Given the description of an element on the screen output the (x, y) to click on. 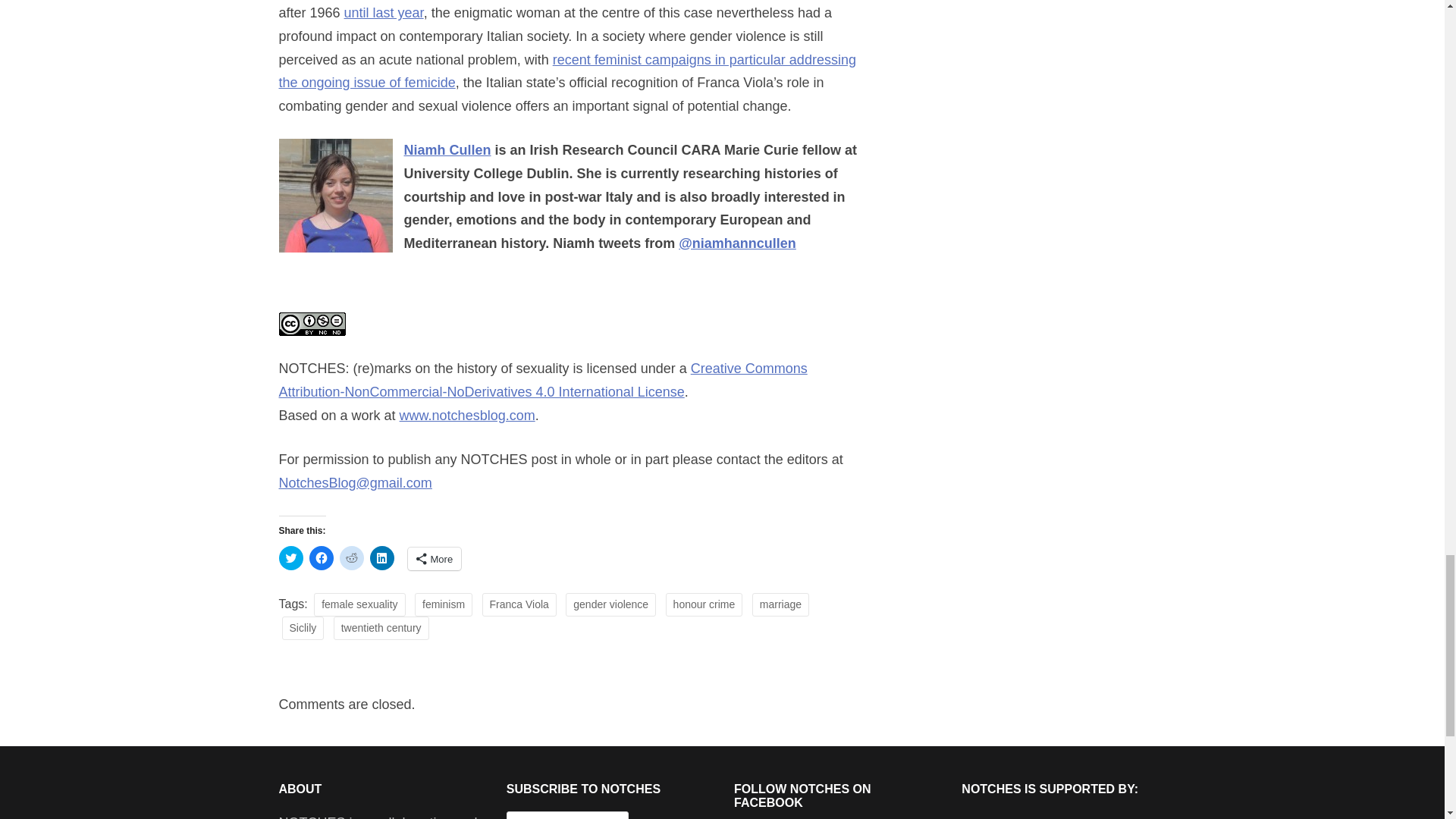
Click to share on Facebook (320, 558)
www.notchesblog.com (466, 415)
Niamh Cullen: Twitter (737, 242)
Click to share on LinkedIn (381, 558)
NOTCHES is supported by: (1063, 815)
Click to share on Twitter (290, 558)
until last year (383, 12)
Niamh Cullen (446, 150)
Niamh Cullen (446, 150)
Click to share on Reddit (351, 558)
